Given the description of an element on the screen output the (x, y) to click on. 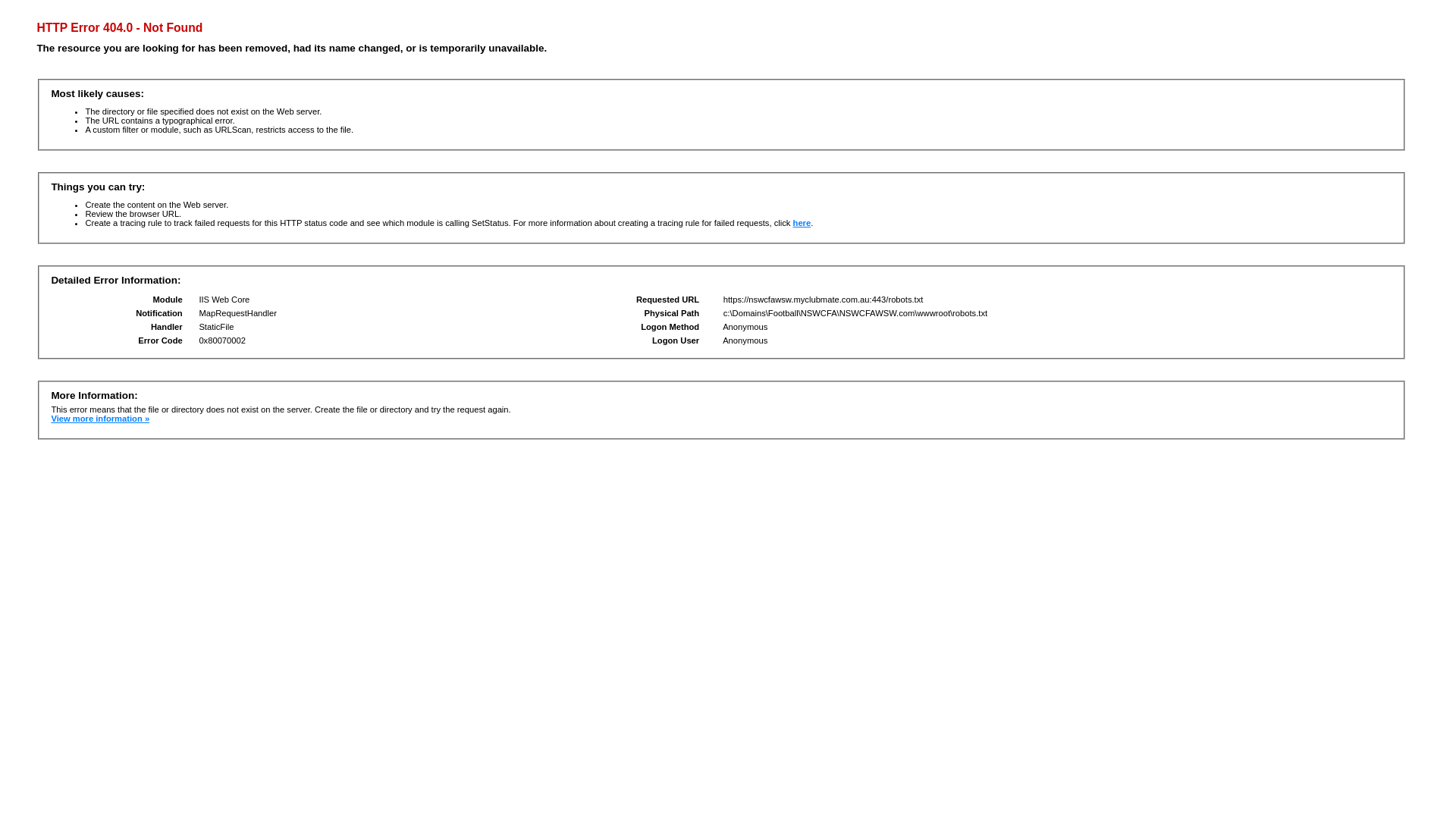
here Element type: text (802, 222)
